Given the description of an element on the screen output the (x, y) to click on. 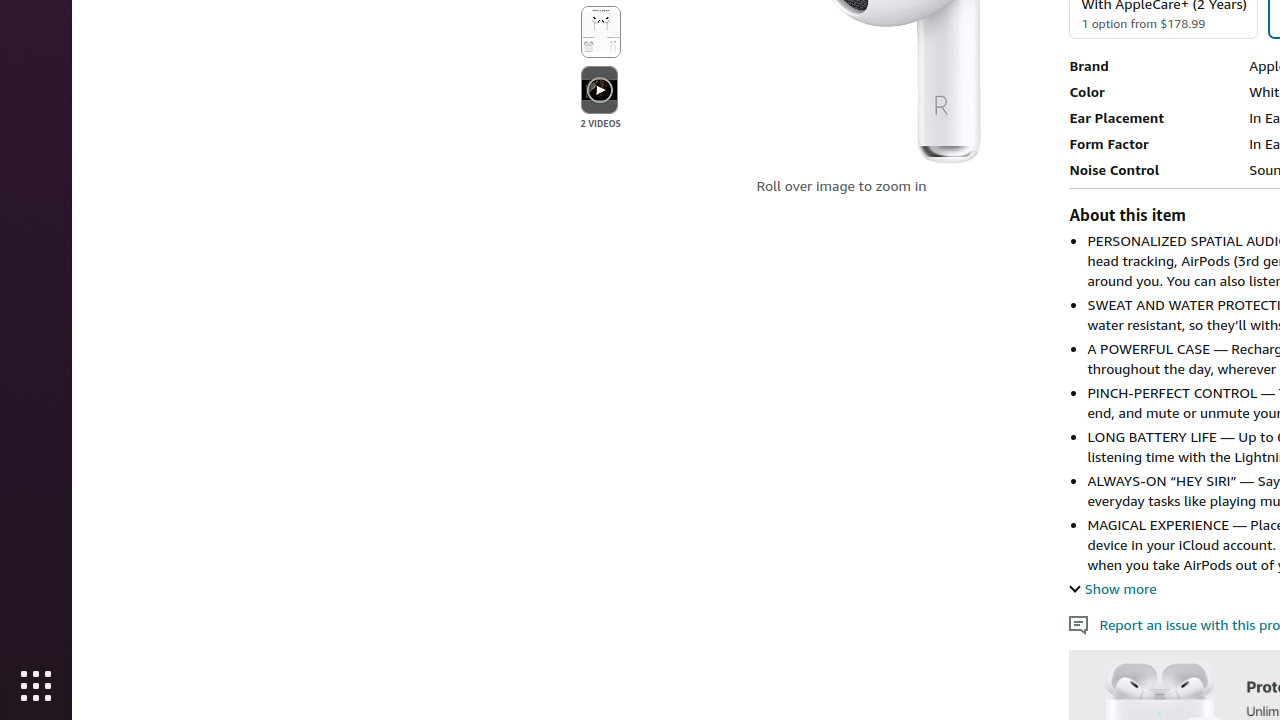
Show more Element type: push-button (1113, 588)
Show Applications Element type: toggle-button (36, 686)
